Given the description of an element on the screen output the (x, y) to click on. 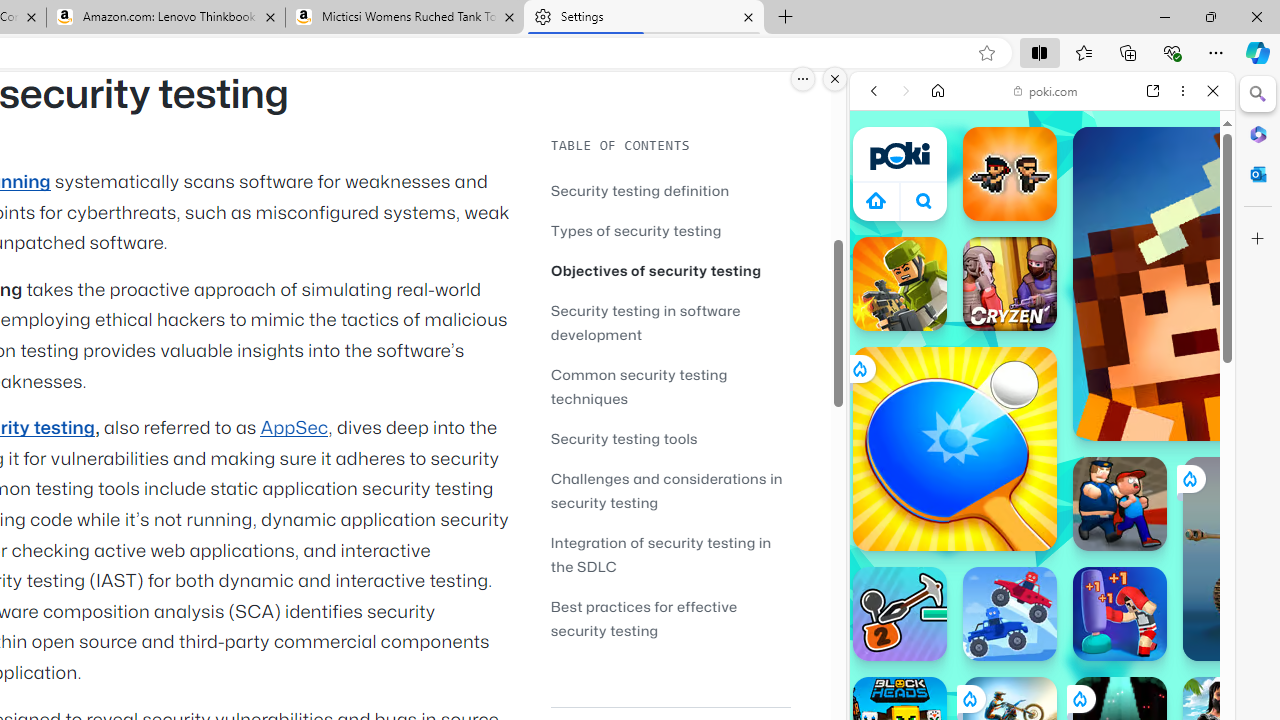
Two Player Games (1042, 567)
Close split screen. (835, 79)
Zombie Rush Zombie Rush (1009, 173)
Security testing definition (639, 190)
Common security testing techniques (670, 386)
Security testing in software development (645, 321)
Escape From School Escape From School (1119, 503)
Ping Pong Go! (954, 448)
AppSec (293, 428)
Car Games (1042, 469)
Types of security testing (670, 230)
